Given the description of an element on the screen output the (x, y) to click on. 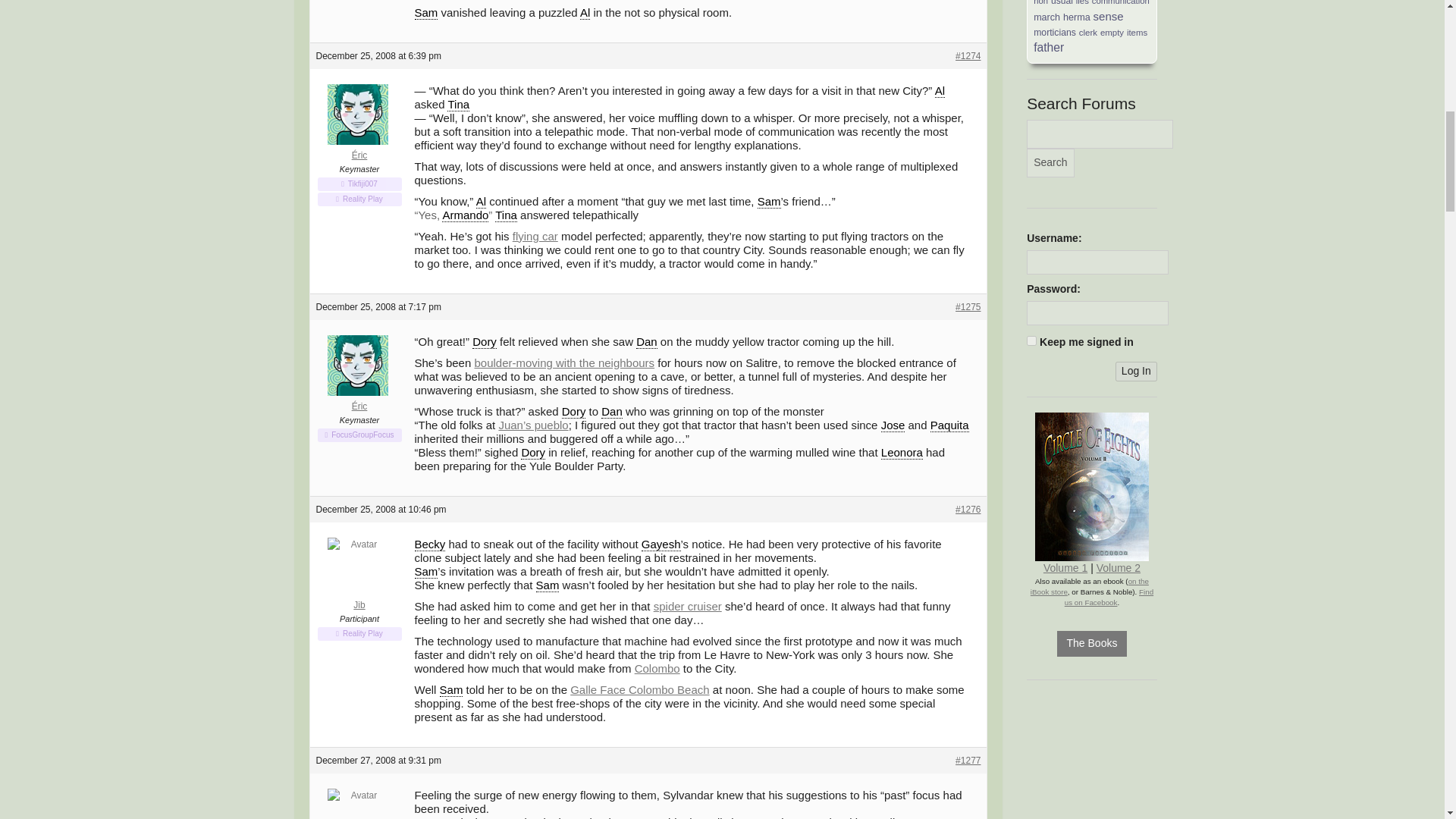
View Jib's profile (359, 804)
View Jib's profile (359, 574)
Search (1050, 162)
forever (1031, 340)
